Given the description of an element on the screen output the (x, y) to click on. 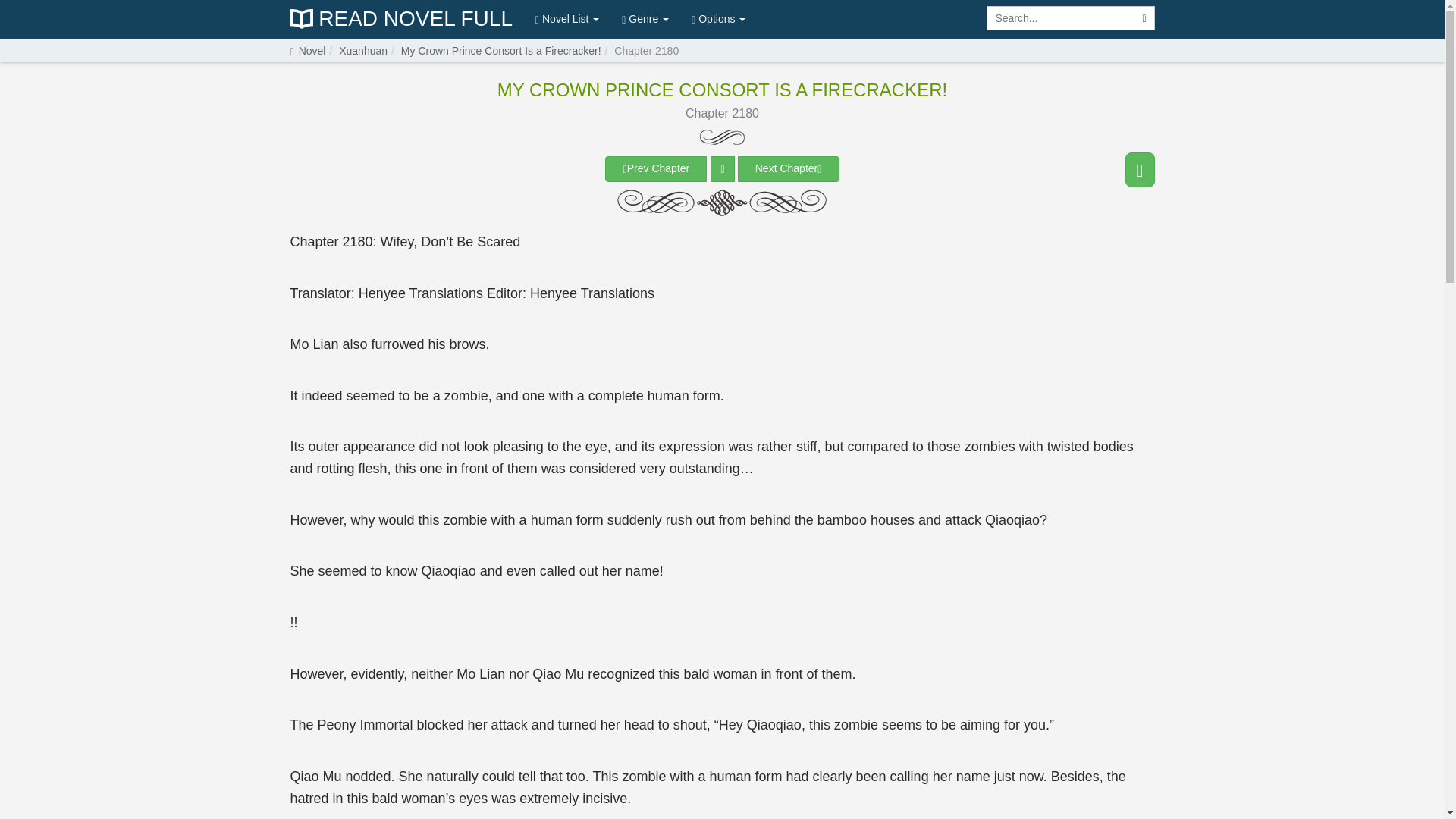
READ NOVEL FULL (400, 19)
Novel List (567, 18)
Genre (644, 18)
Read Novel Full (400, 19)
